Given the description of an element on the screen output the (x, y) to click on. 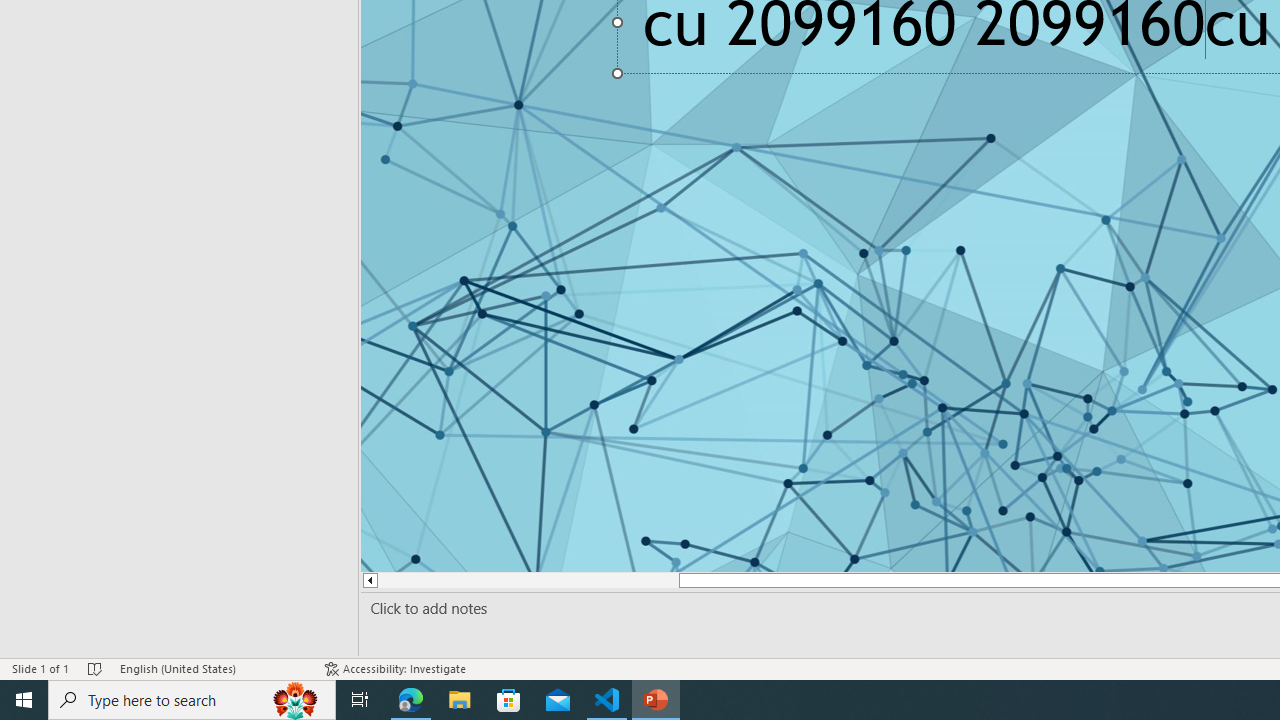
Page up (518, 579)
Spell Check No Errors (95, 668)
Accessibility Checker Accessibility: Investigate (397, 668)
Line up (368, 579)
